Given the description of an element on the screen output the (x, y) to click on. 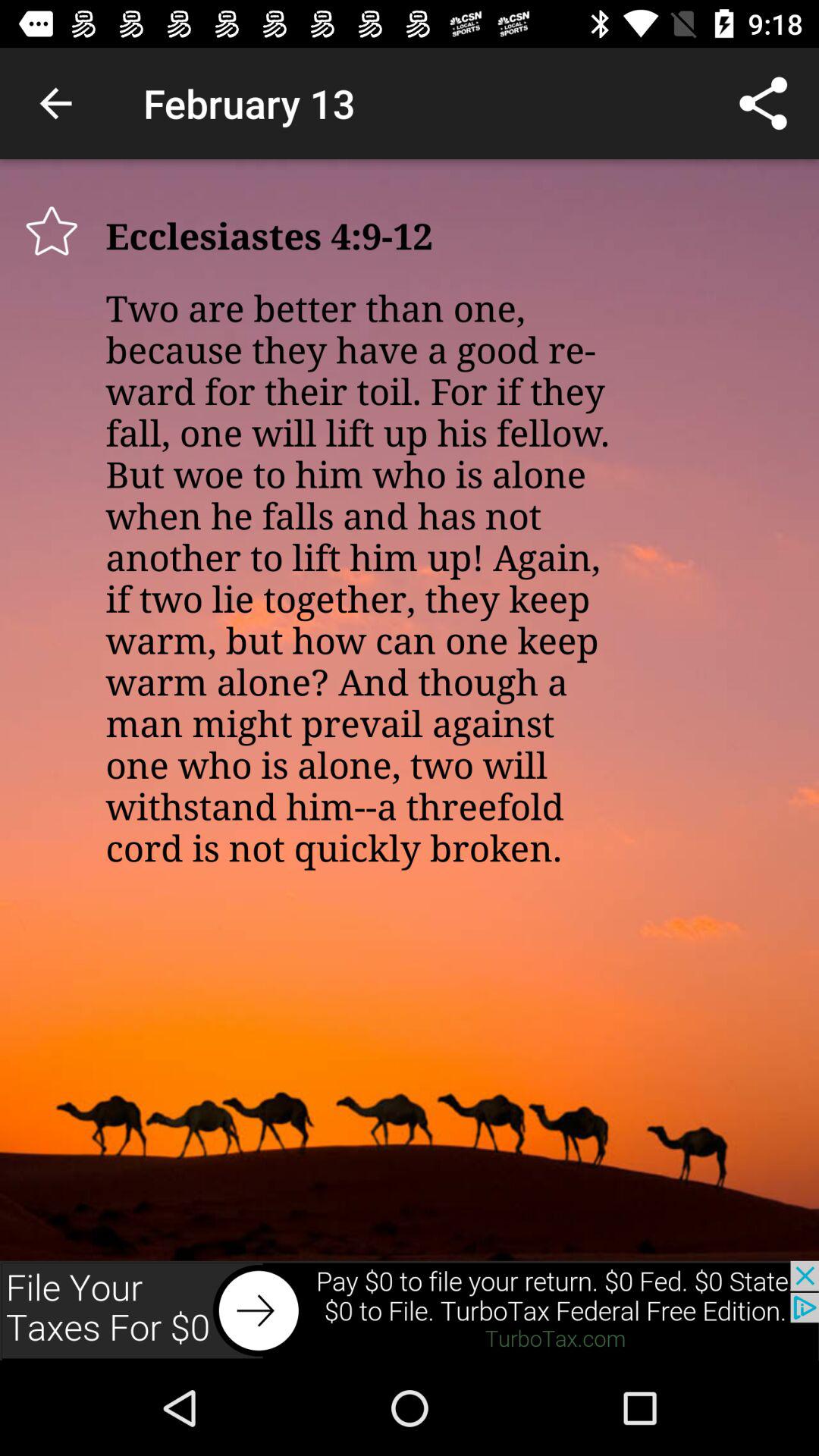
open advertisement (409, 1310)
